Given the description of an element on the screen output the (x, y) to click on. 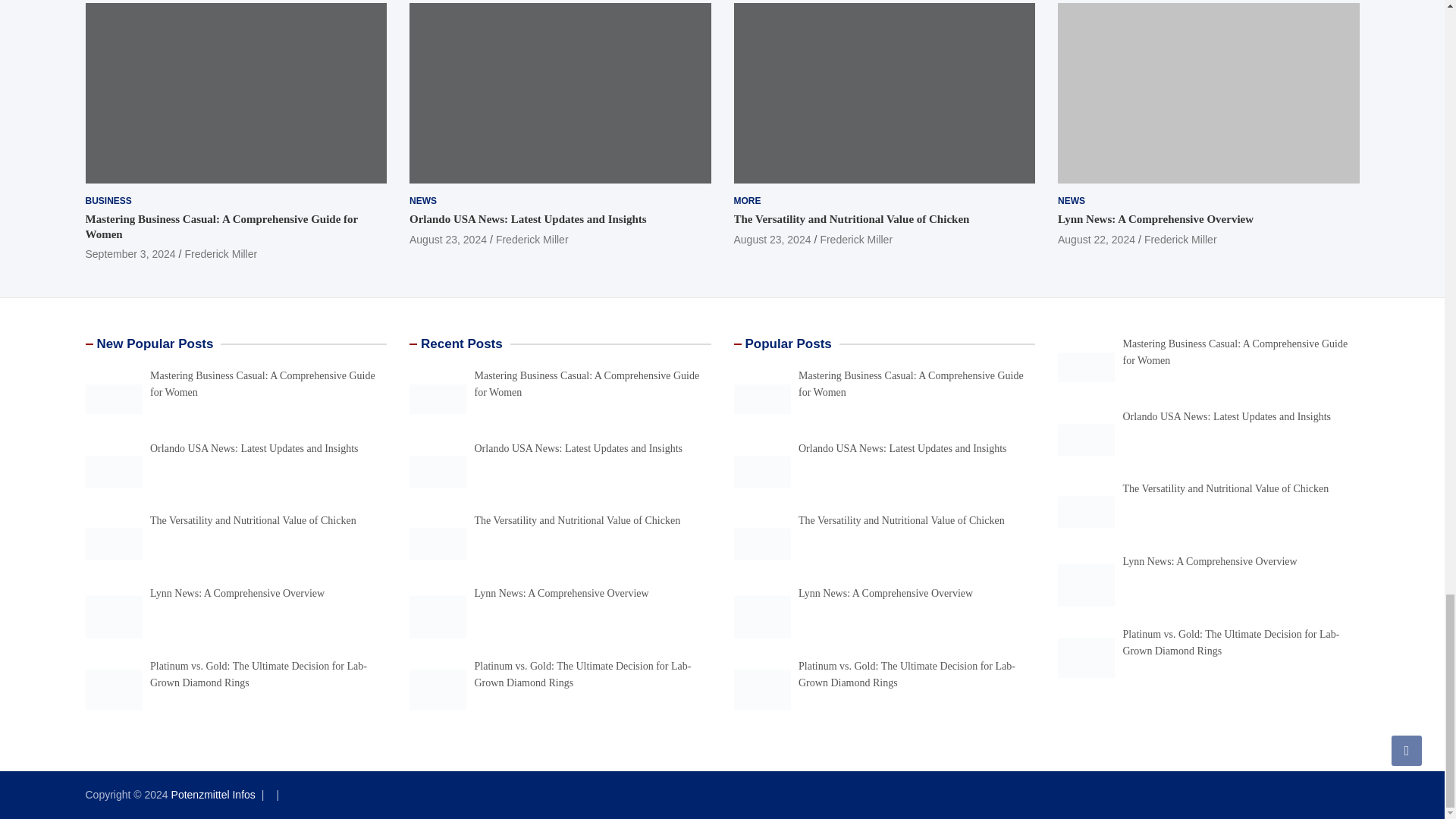
Lynn News: A Comprehensive Overview (1096, 239)
Mastering Business Casual (112, 399)
Mastering Business Casual: A Comprehensive Guide for Women (129, 254)
The Versatility and Nutritional Value of Chicken (771, 239)
Mastering Business Casual (234, 92)
Mastering Business Casual (437, 399)
Mastering Business Casual (1086, 367)
Mastering Business Casual (761, 399)
Orlando USA News: Latest Updates and Insights (447, 239)
